Given the description of an element on the screen output the (x, y) to click on. 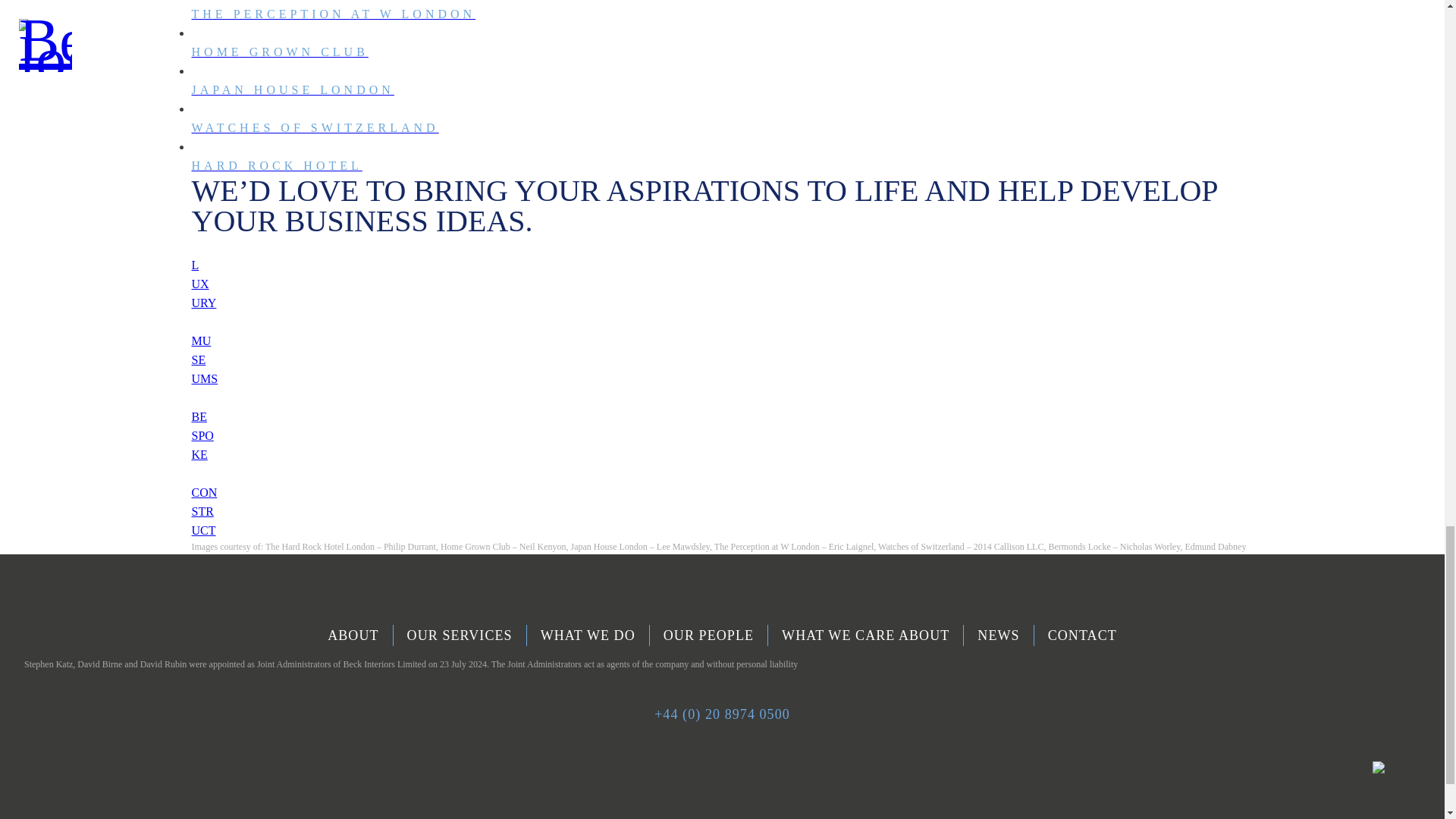
NEWS (998, 635)
CONTACT (1082, 635)
WATCHES OF SWITZERLAND (721, 491)
THE PERCEPTION AT W LONDON (721, 103)
OUR SERVICES (721, 261)
WHAT WE CARE ABOUT (721, 337)
